Given the description of an element on the screen output the (x, y) to click on. 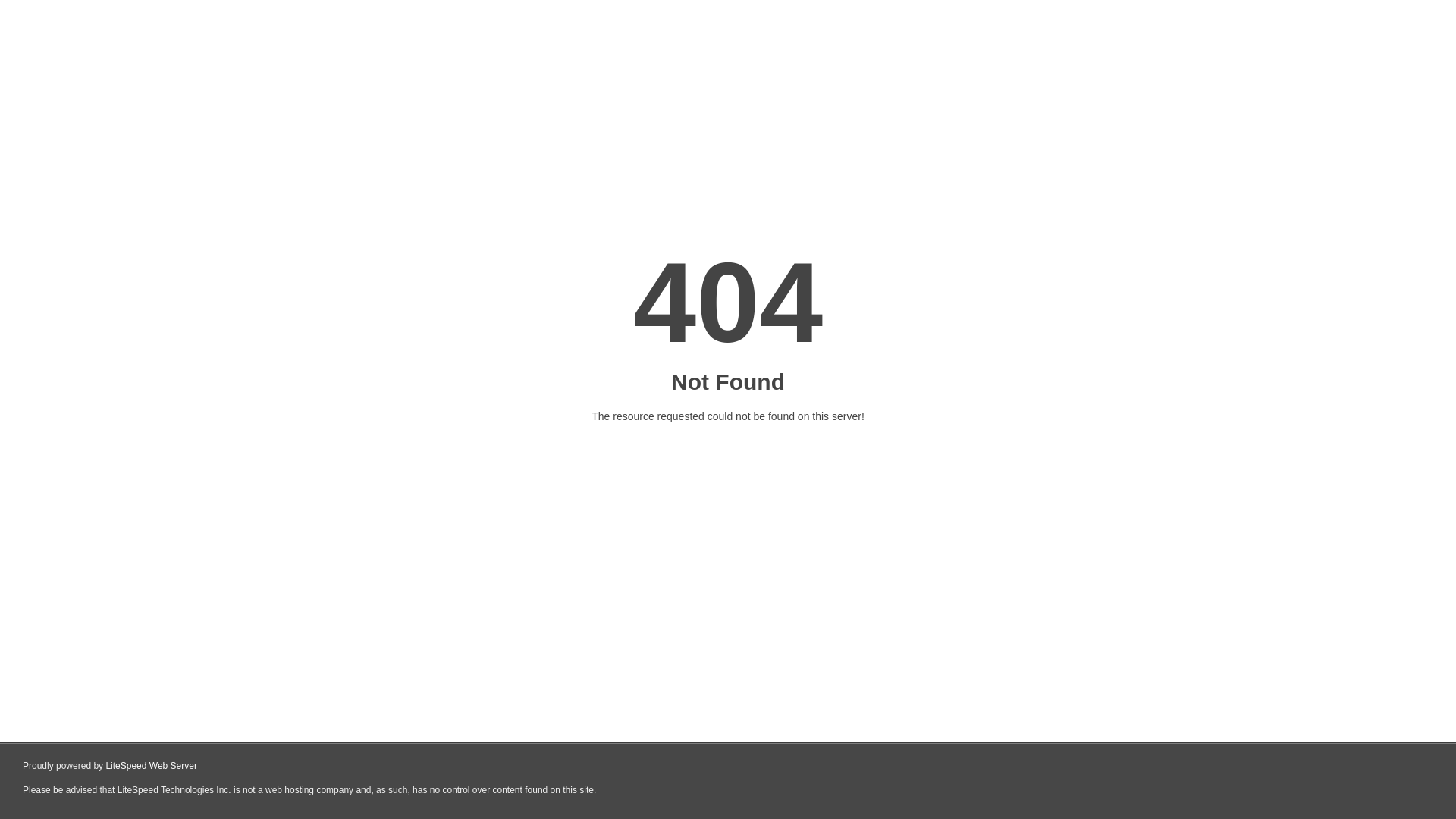
LiteSpeed Web Server Element type: text (151, 765)
